Given the description of an element on the screen output the (x, y) to click on. 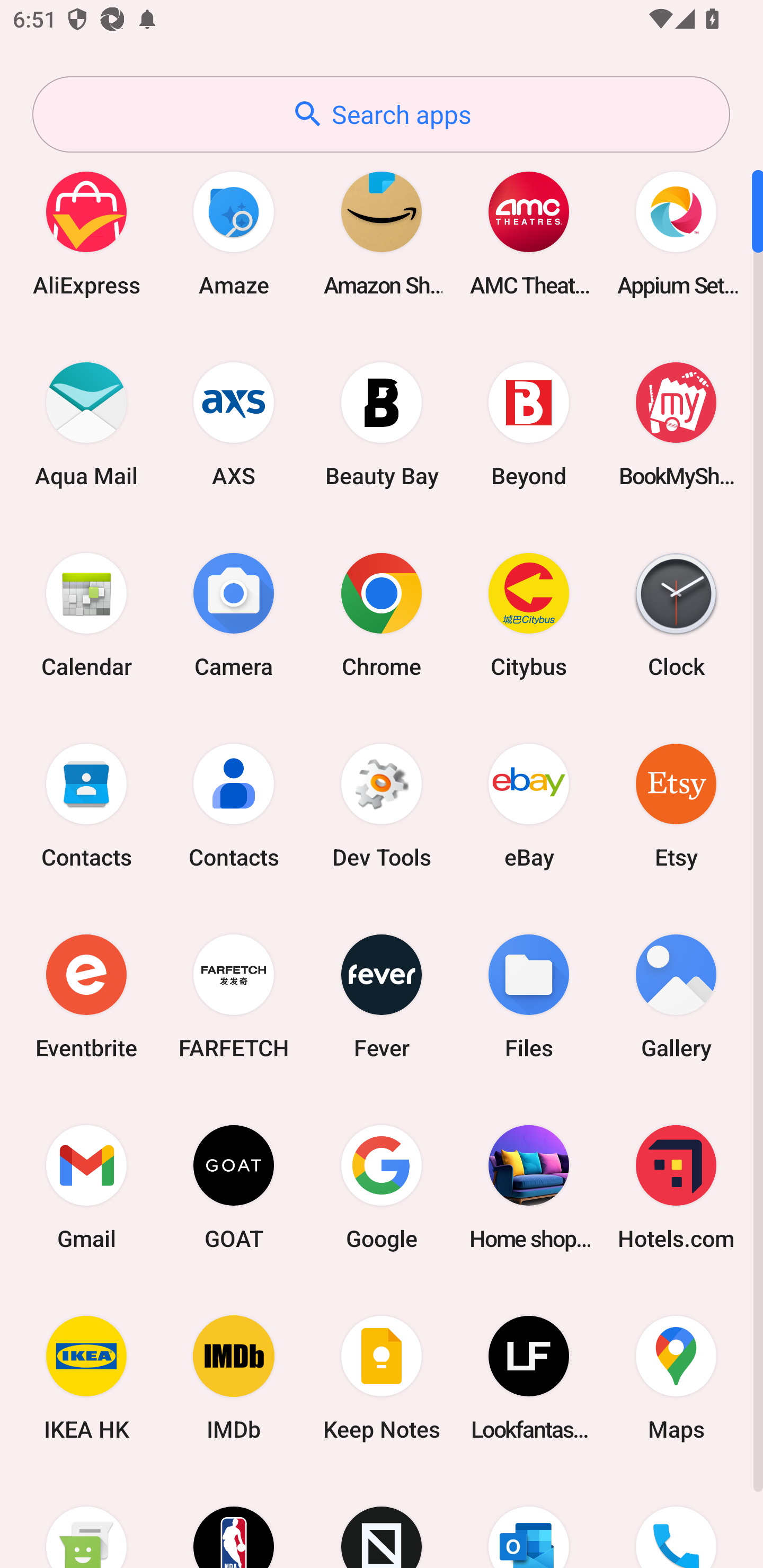
  Search apps (381, 114)
AliExpress (86, 233)
Amaze (233, 233)
Amazon Shopping (381, 233)
AMC Theatres (528, 233)
Appium Settings (676, 233)
Aqua Mail (86, 424)
AXS (233, 424)
Beauty Bay (381, 424)
Beyond (528, 424)
BookMyShow (676, 424)
Calendar (86, 614)
Camera (233, 614)
Chrome (381, 614)
Citybus (528, 614)
Clock (676, 614)
Contacts (86, 805)
Contacts (233, 805)
Dev Tools (381, 805)
eBay (528, 805)
Etsy (676, 805)
Eventbrite (86, 996)
FARFETCH (233, 996)
Fever (381, 996)
Files (528, 996)
Gallery (676, 996)
Gmail (86, 1186)
GOAT (233, 1186)
Google (381, 1186)
Home shopping (528, 1186)
Hotels.com (676, 1186)
IKEA HK (86, 1377)
IMDb (233, 1377)
Keep Notes (381, 1377)
Lookfantastic (528, 1377)
Maps (676, 1377)
